Given the description of an element on the screen output the (x, y) to click on. 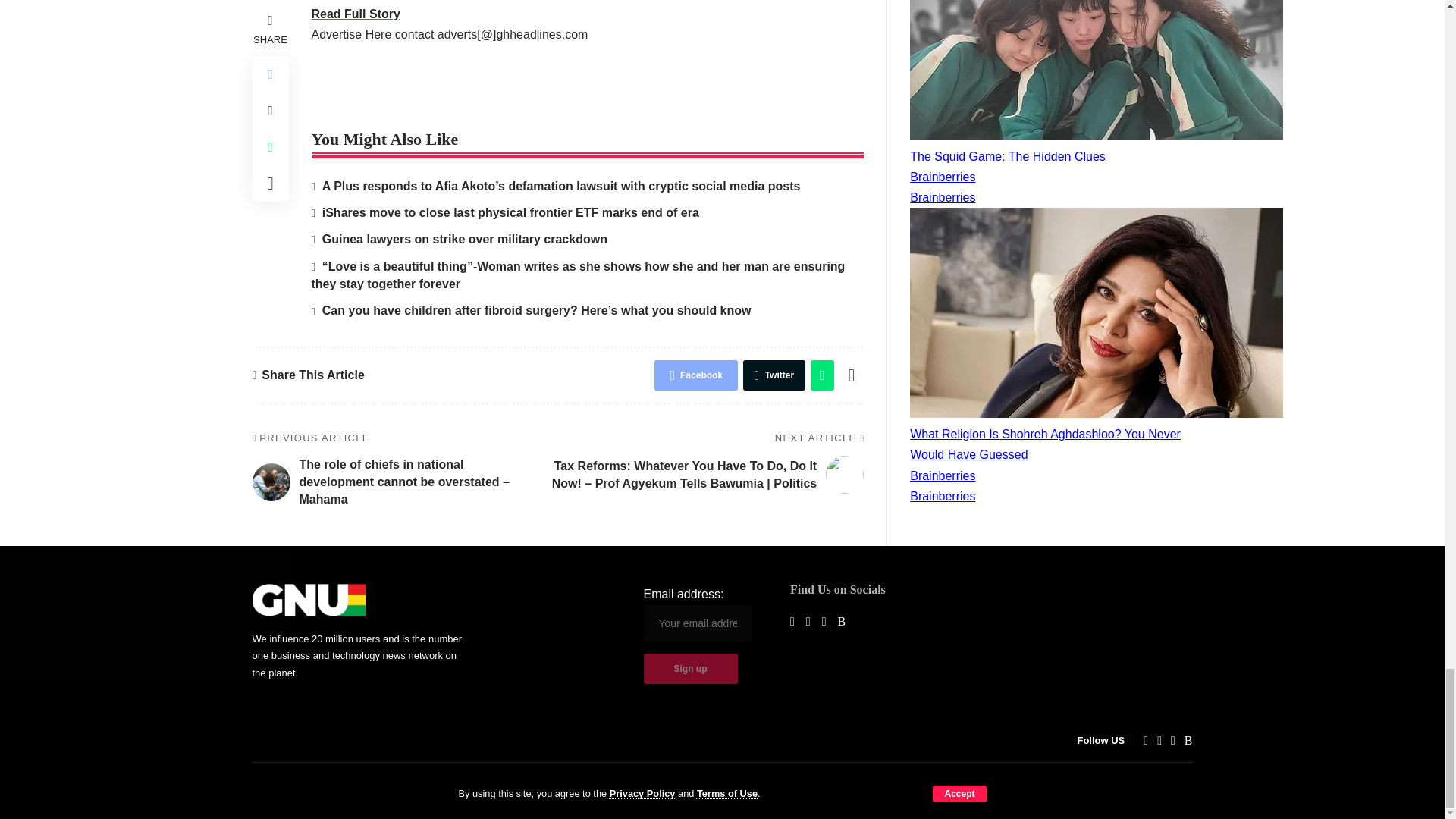
Sign up (689, 668)
